Given the description of an element on the screen output the (x, y) to click on. 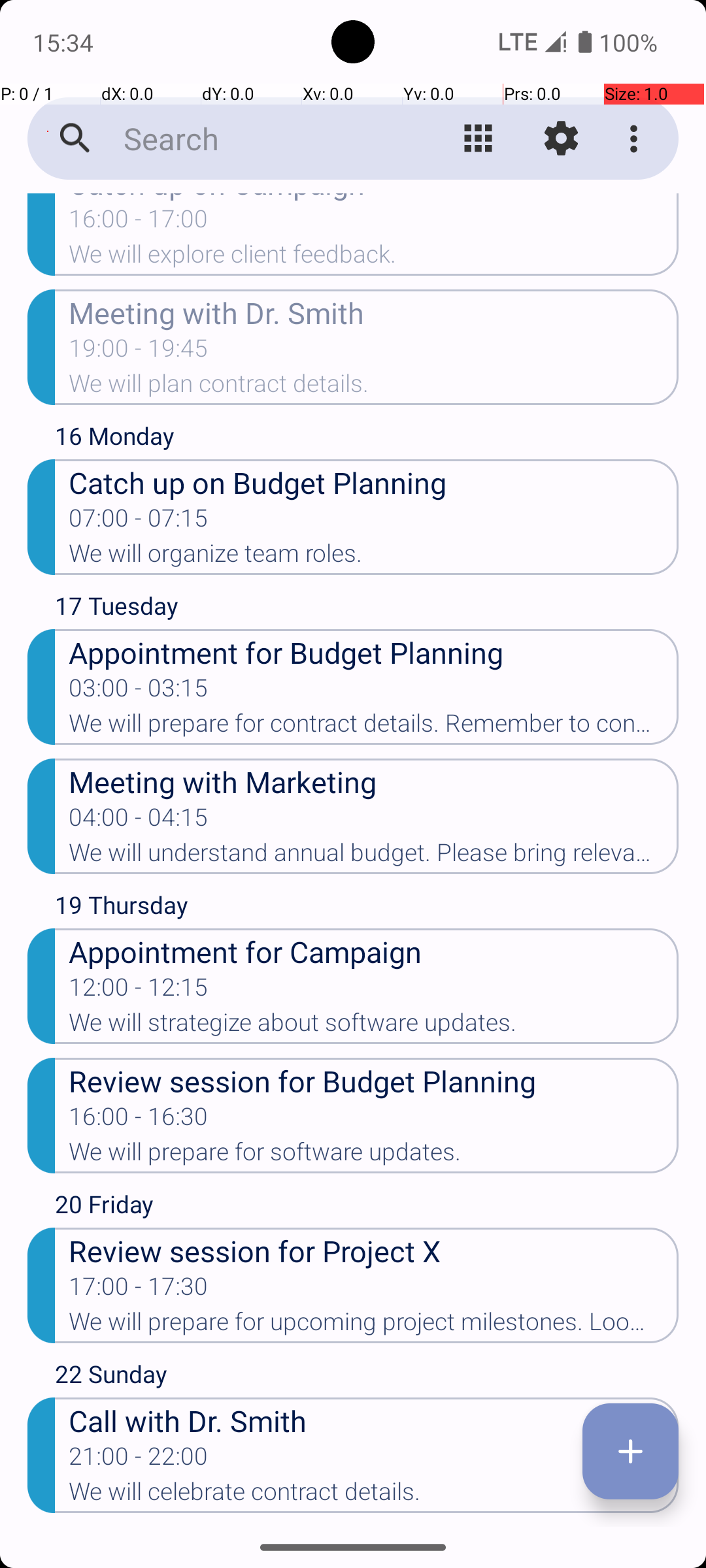
17 Tuesday Element type: android.widget.TextView (366, 608)
19 Thursday Element type: android.widget.TextView (366, 907)
20 Friday Element type: android.widget.TextView (366, 1207)
22 Sunday Element type: android.widget.TextView (366, 1376)
16:00 - 17:00 Element type: android.widget.TextView (137, 222)
We will explore client feedback. Element type: android.widget.TextView (373, 257)
Meeting with Dr. Smith Element type: android.widget.TextView (373, 311)
19:00 - 19:45 Element type: android.widget.TextView (137, 351)
We will plan contract details. Element type: android.widget.TextView (373, 387)
Catch up on Budget Planning Element type: android.widget.TextView (373, 481)
07:00 - 07:15 Element type: android.widget.TextView (137, 521)
We will organize team roles. Element type: android.widget.TextView (373, 556)
03:00 - 03:15 Element type: android.widget.TextView (137, 691)
We will prepare for contract details. Remember to confirm attendance. Element type: android.widget.TextView (373, 726)
04:00 - 04:15 Element type: android.widget.TextView (137, 820)
We will understand annual budget. Please bring relevant documents. Element type: android.widget.TextView (373, 856)
12:00 - 12:15 Element type: android.widget.TextView (137, 990)
We will strategize about software updates. Element type: android.widget.TextView (373, 1026)
16:00 - 16:30 Element type: android.widget.TextView (137, 1120)
We will prepare for software updates. Element type: android.widget.TextView (373, 1155)
17:00 - 17:30 Element type: android.widget.TextView (137, 1289)
We will prepare for upcoming project milestones. Looking forward to productive discussions. Element type: android.widget.TextView (373, 1325)
21:00 - 22:00 Element type: android.widget.TextView (137, 1459)
We will celebrate contract details. Element type: android.widget.TextView (373, 1495)
